Given the description of an element on the screen output the (x, y) to click on. 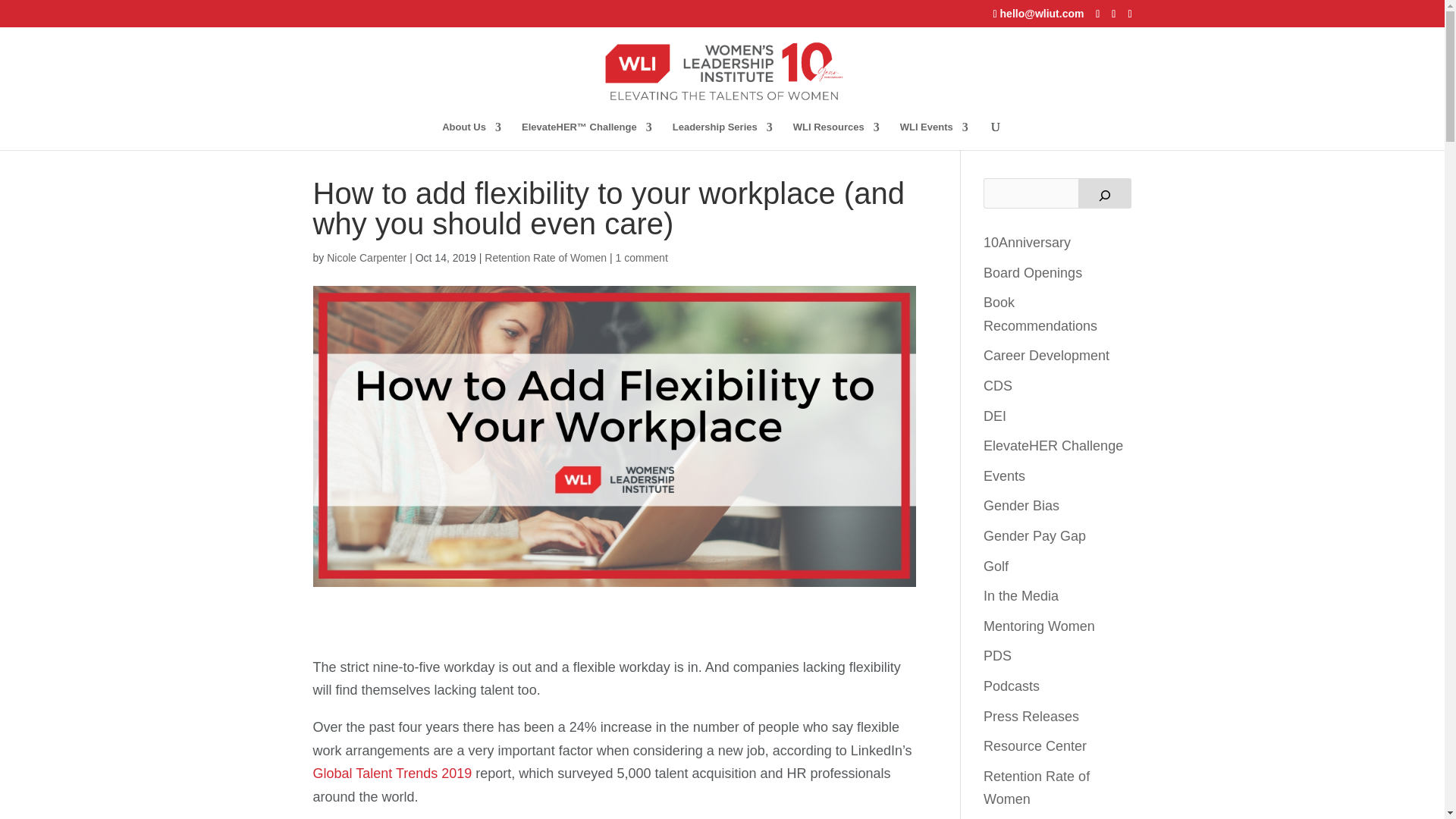
Posts by Nicole Carpenter (366, 257)
Leadership Series (722, 135)
WLI Events (933, 135)
About Us (471, 135)
Retention Rate of Women (545, 257)
Nicole Carpenter (366, 257)
Global Talent Trends 2019 (392, 773)
1 comment (641, 257)
WLI Resources (836, 135)
